Given the description of an element on the screen output the (x, y) to click on. 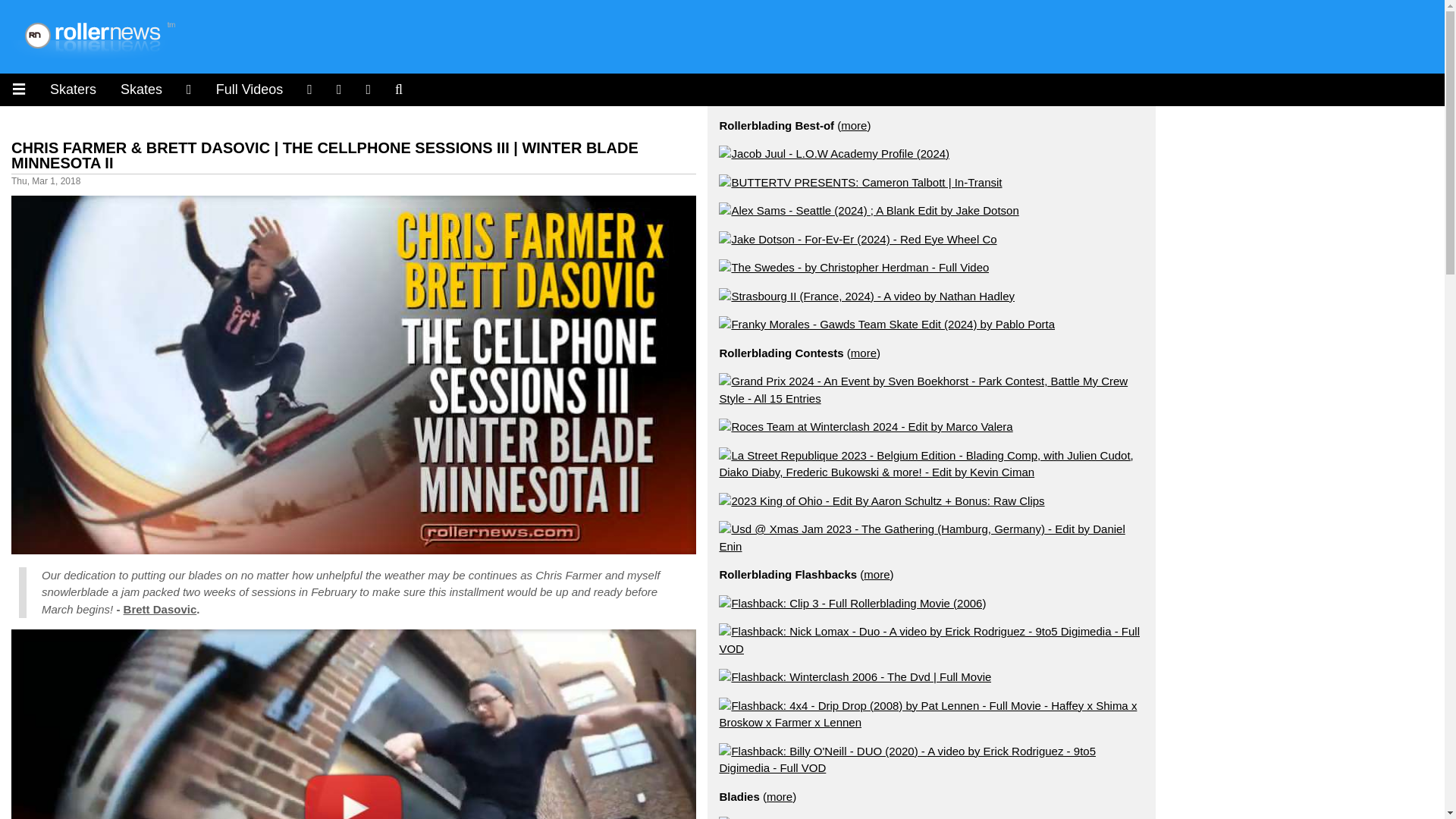
Search (398, 88)
Full Videos (249, 88)
Instagram (309, 88)
Skates (140, 88)
Instagram (188, 88)
Twitter (368, 88)
Skaters (72, 88)
Facebook (338, 88)
Brett Dasovic (159, 608)
